Given the description of an element on the screen output the (x, y) to click on. 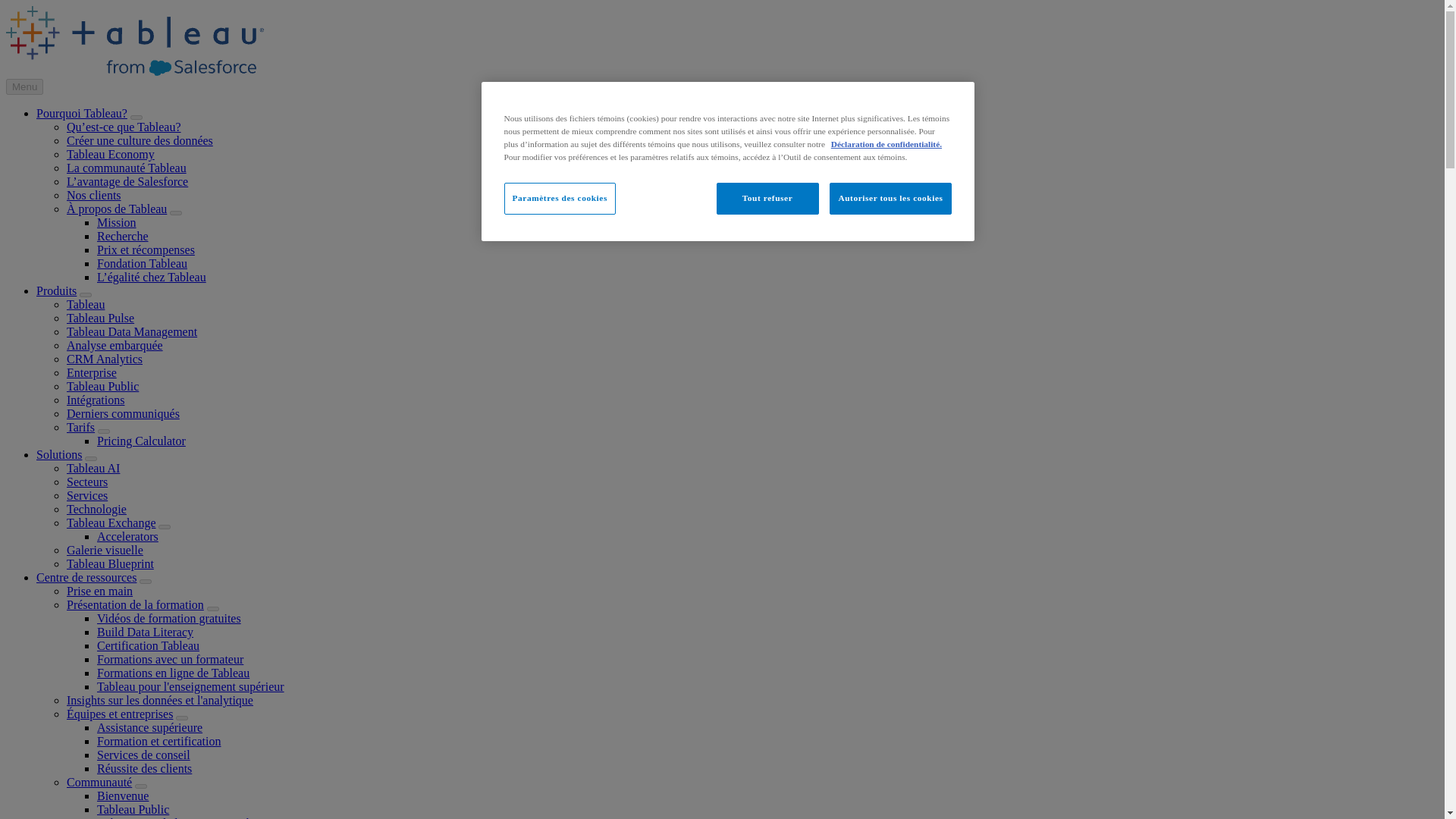
Pricing Calculator (141, 440)
Tableau AI (92, 468)
Services (86, 495)
Mission (116, 222)
Nos clients (93, 195)
Tableau Data Management (131, 331)
Tableau Pulse (99, 318)
Solutions (58, 454)
Produits (56, 290)
Fondation Tableau (142, 263)
Pourquoi Tableau? (82, 113)
Enterprise (91, 372)
Tableau Exchange (110, 522)
CRM Analytics (104, 358)
